Given the description of an element on the screen output the (x, y) to click on. 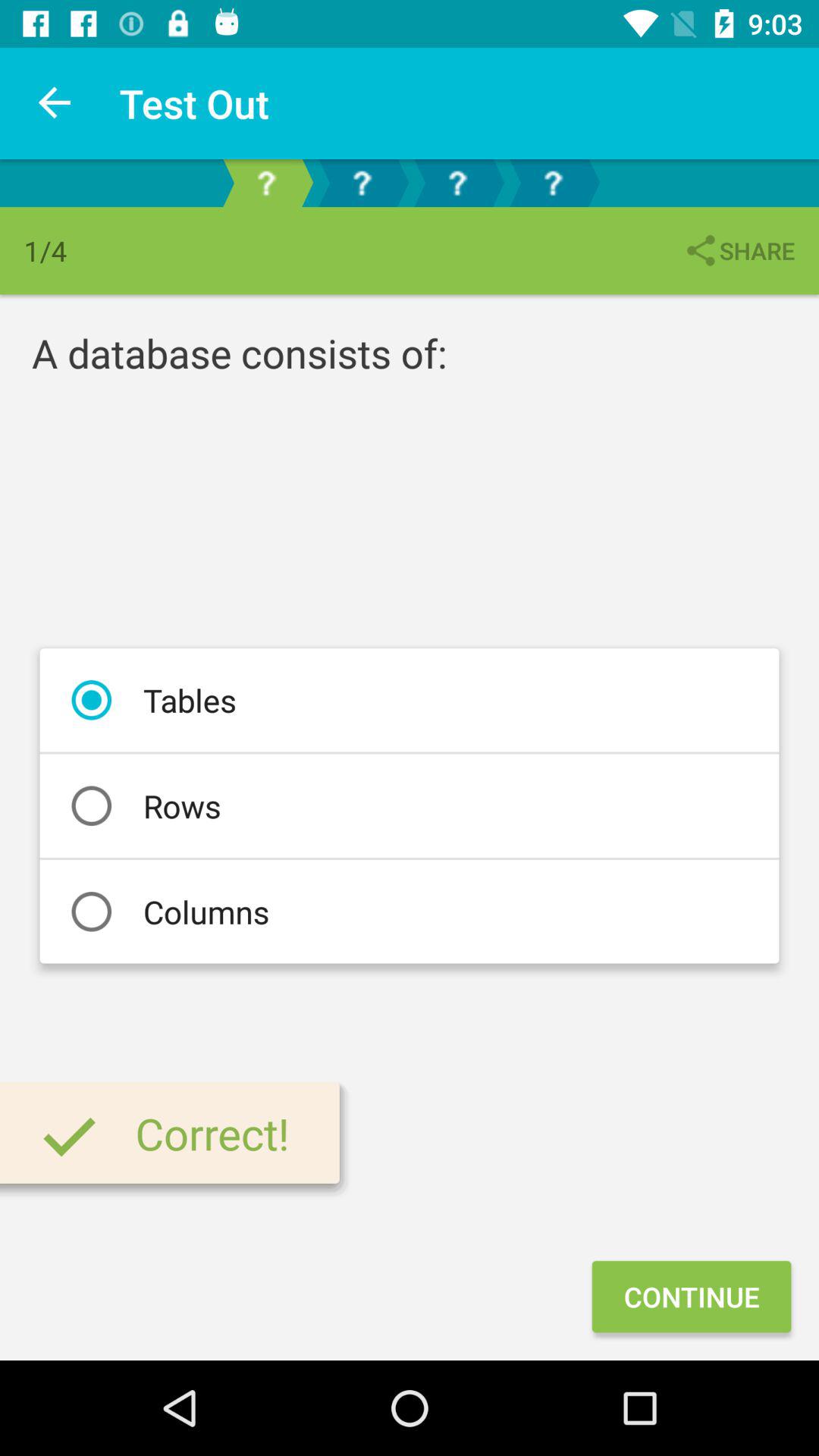
select question 4/4 (552, 183)
